Given the description of an element on the screen output the (x, y) to click on. 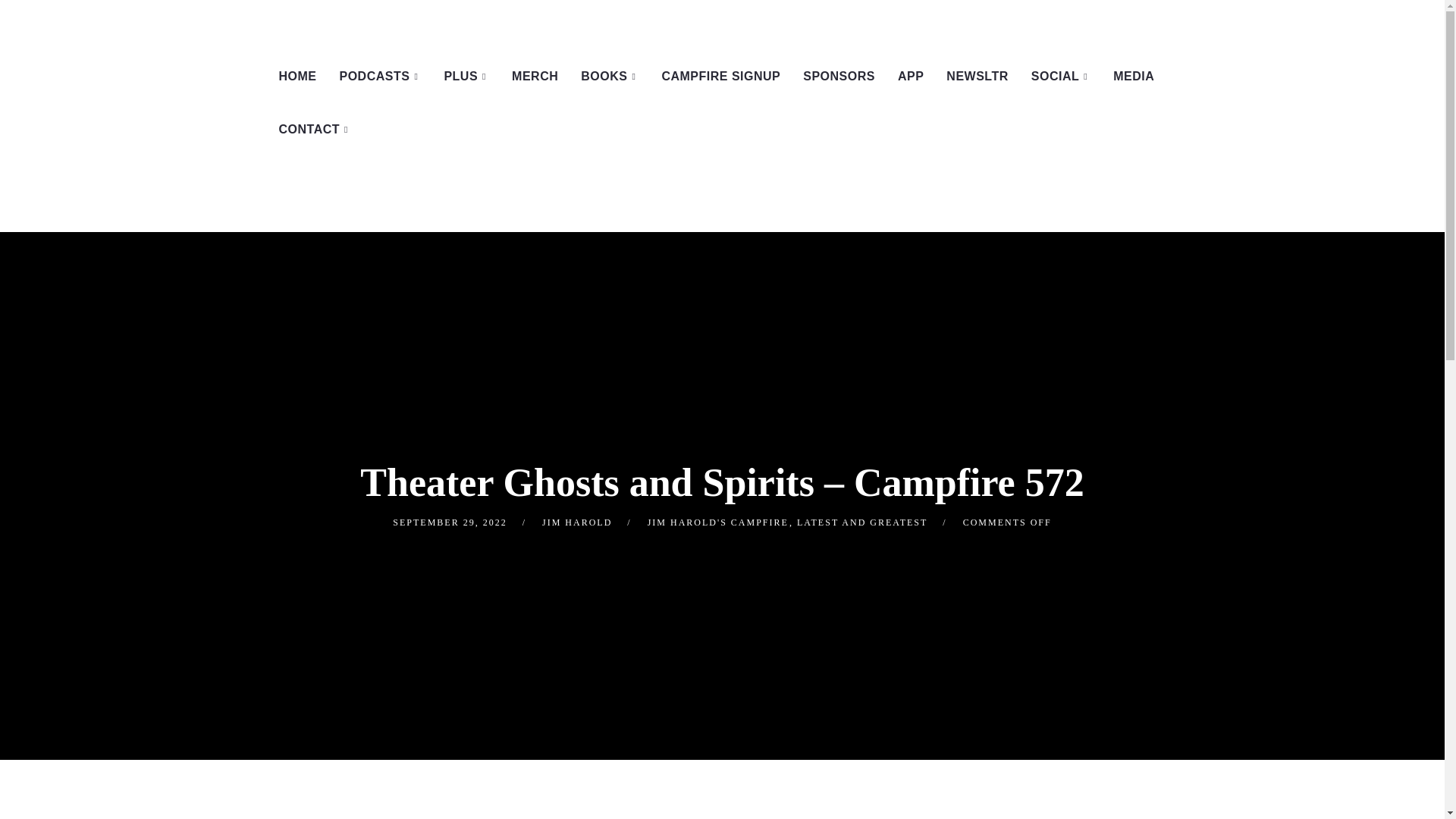
MERCH (534, 76)
BOOKS (609, 76)
MEDIA (1134, 76)
HOME (296, 76)
PODCASTS (379, 76)
CAMPFIRE SIGNUP (720, 76)
CONTACT (314, 129)
NEWSLTR (976, 76)
APP (910, 76)
SOCIAL (1061, 76)
PLUS (466, 76)
SPONSORS (839, 76)
